Given the description of an element on the screen output the (x, y) to click on. 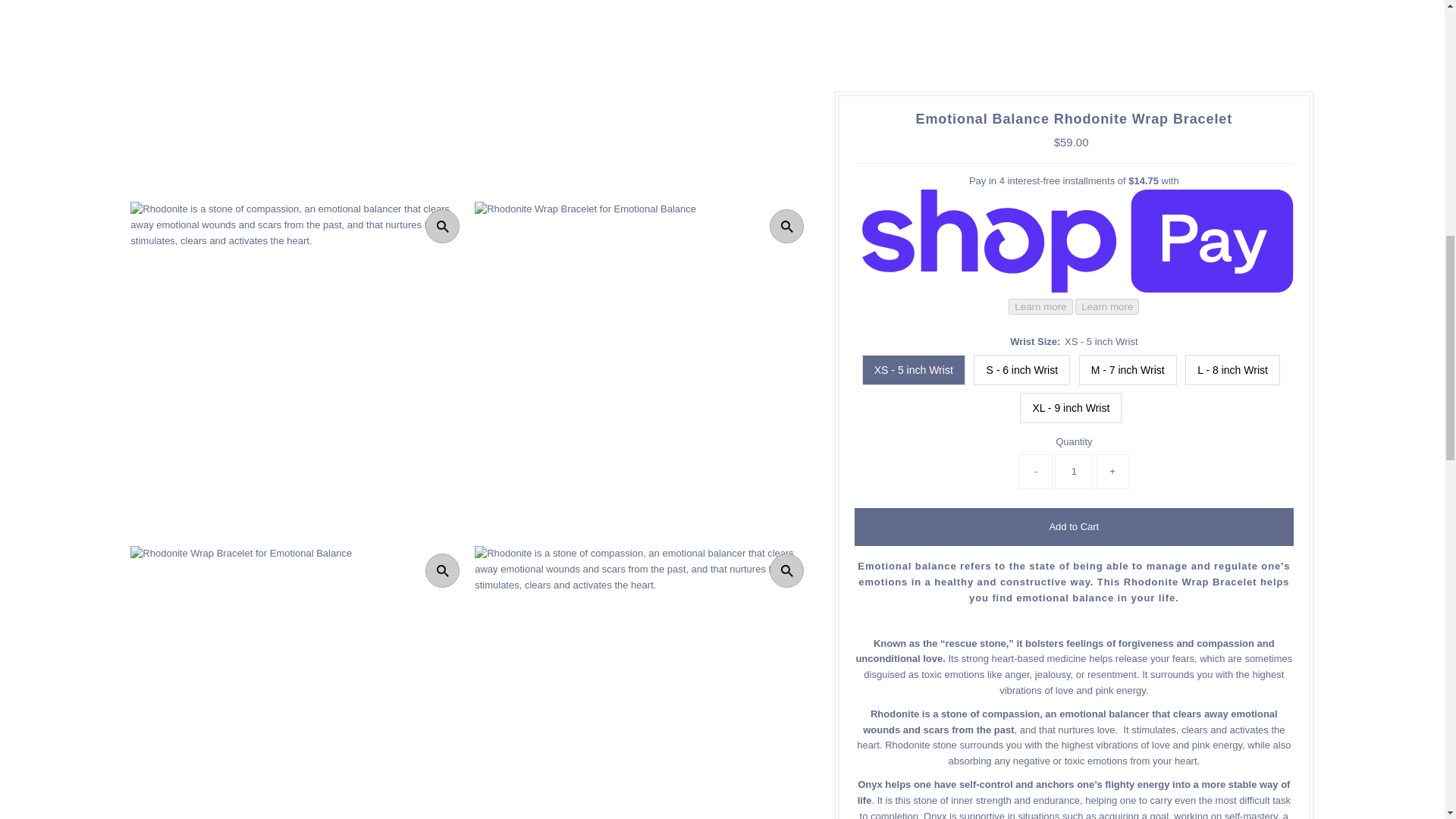
Click to zoom (442, 226)
Share on Facebook (1051, 430)
Share on Twitter (1074, 430)
Click to zoom (786, 570)
Click to zoom (442, 570)
Click to zoom (786, 226)
Share on Pinterest (1096, 430)
